Given the description of an element on the screen output the (x, y) to click on. 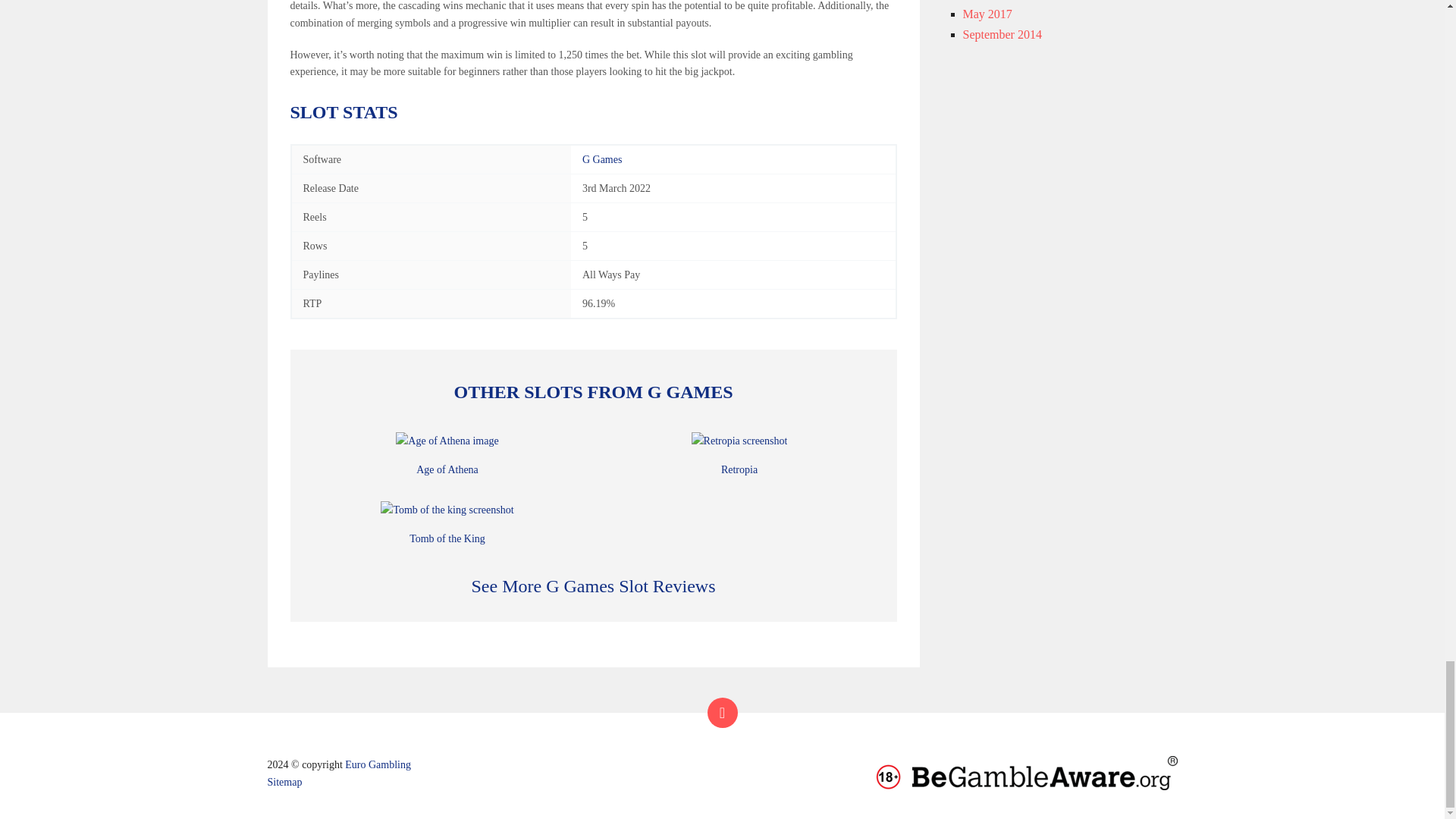
Retropia (738, 469)
Tomb of the King (446, 538)
See More G Games Slot Reviews (593, 586)
Age of Athena (447, 469)
G Games (602, 159)
